Given the description of an element on the screen output the (x, y) to click on. 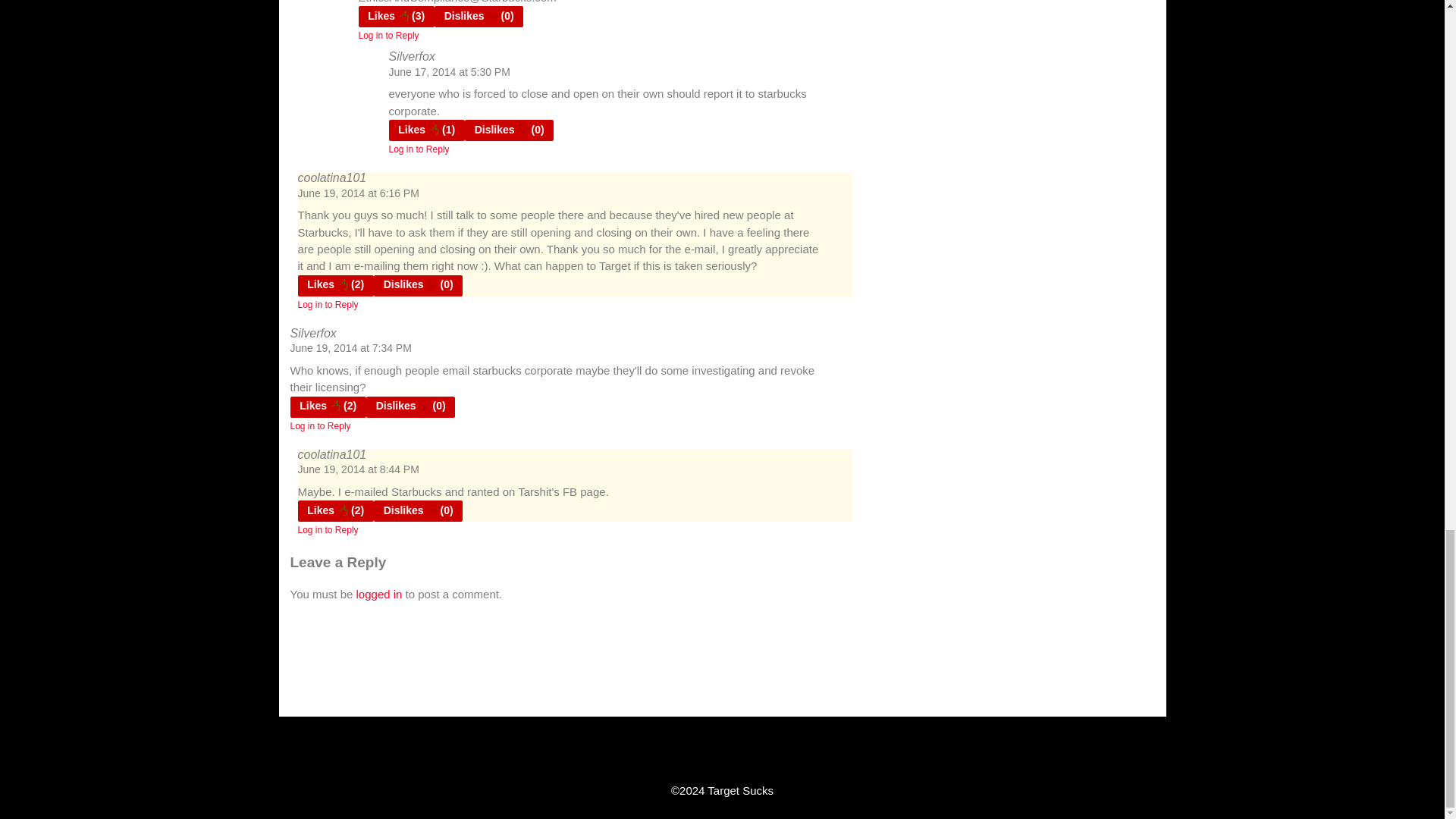
June 19, 2014 at 7:34 PM (349, 347)
logged in (379, 594)
Log in to Reply (327, 304)
Log in to Reply (388, 35)
Log in to Reply (418, 149)
June 17, 2014 at 5:30 PM (448, 71)
Log in to Reply (319, 425)
June 19, 2014 at 6:16 PM (358, 193)
June 19, 2014 at 8:44 PM (358, 469)
Log in to Reply (327, 529)
